Given the description of an element on the screen output the (x, y) to click on. 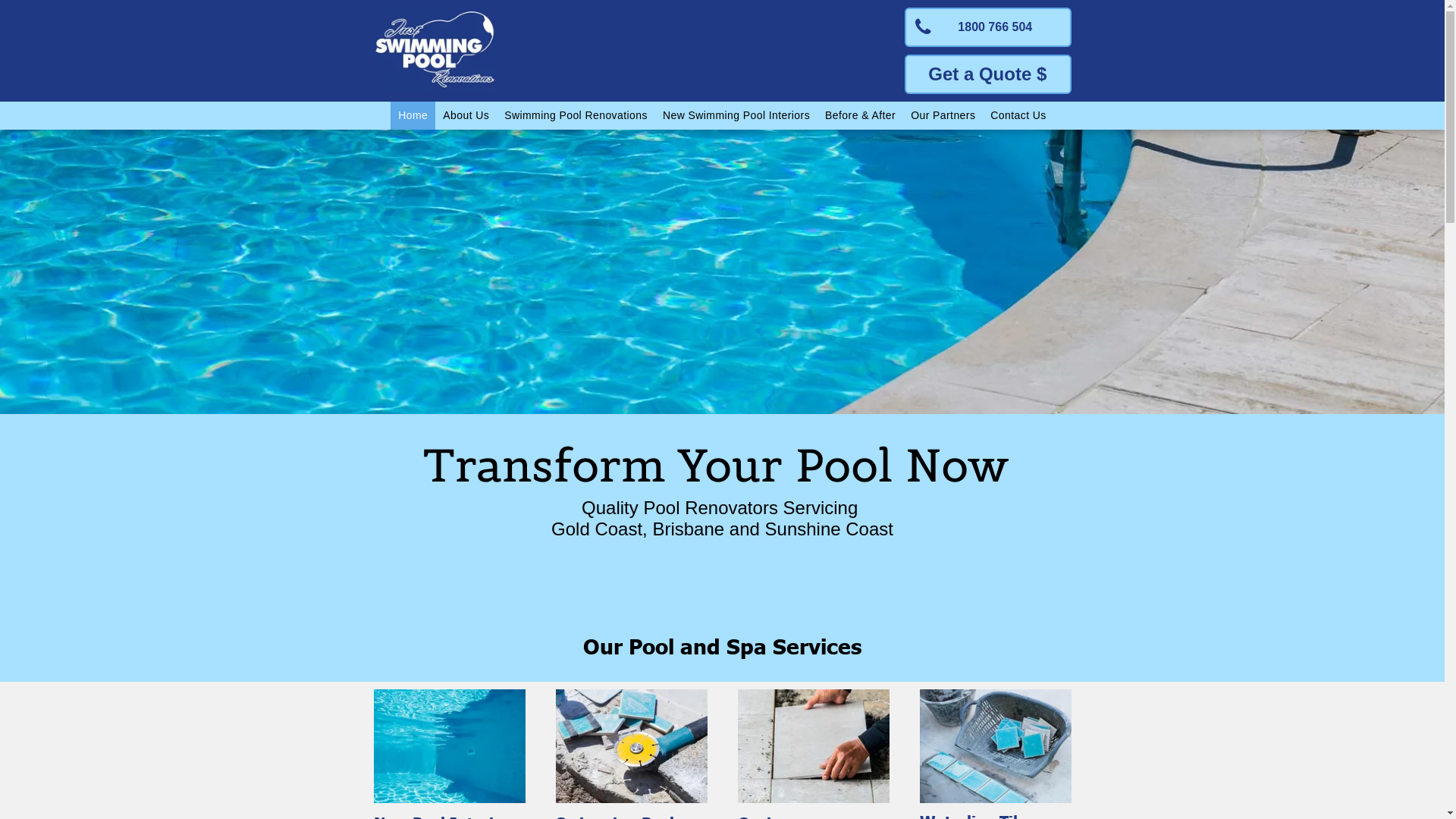
About Us Element type: text (465, 115)
Our Partners Element type: text (942, 115)
Get a Quote $ Element type: text (986, 74)
Contact Us Element type: text (1017, 115)
New Swimming Pool Interiors Element type: text (736, 115)
Swimming Pool Renovations Element type: text (575, 115)
Before & After Element type: text (860, 115)
Home Element type: text (412, 115)
1800 766 504 Element type: text (986, 27)
